Given the description of an element on the screen output the (x, y) to click on. 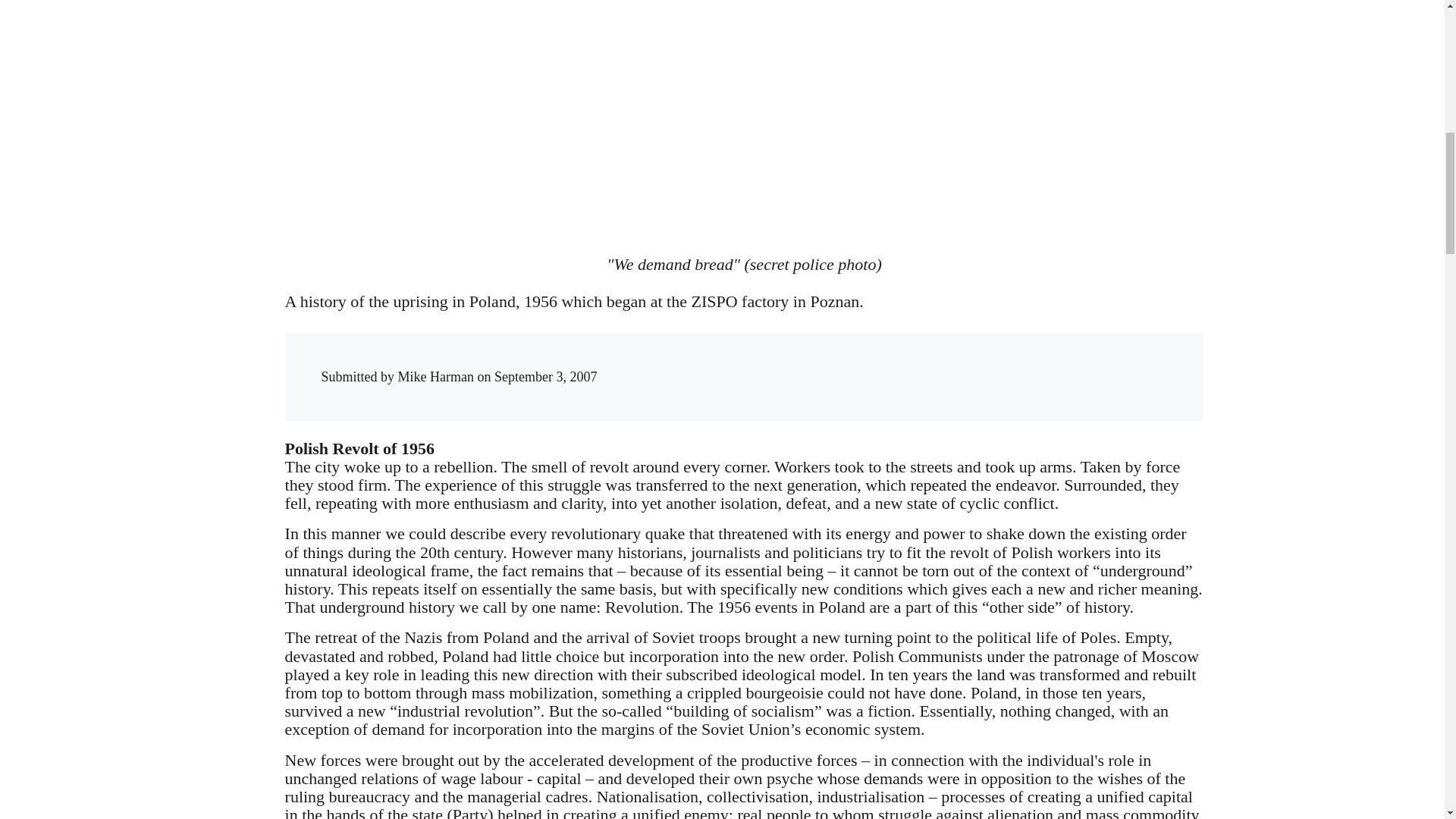
Share to Facebook (914, 362)
Share to Reddit (975, 362)
Share to Twitter (945, 362)
